Given the description of an element on the screen output the (x, y) to click on. 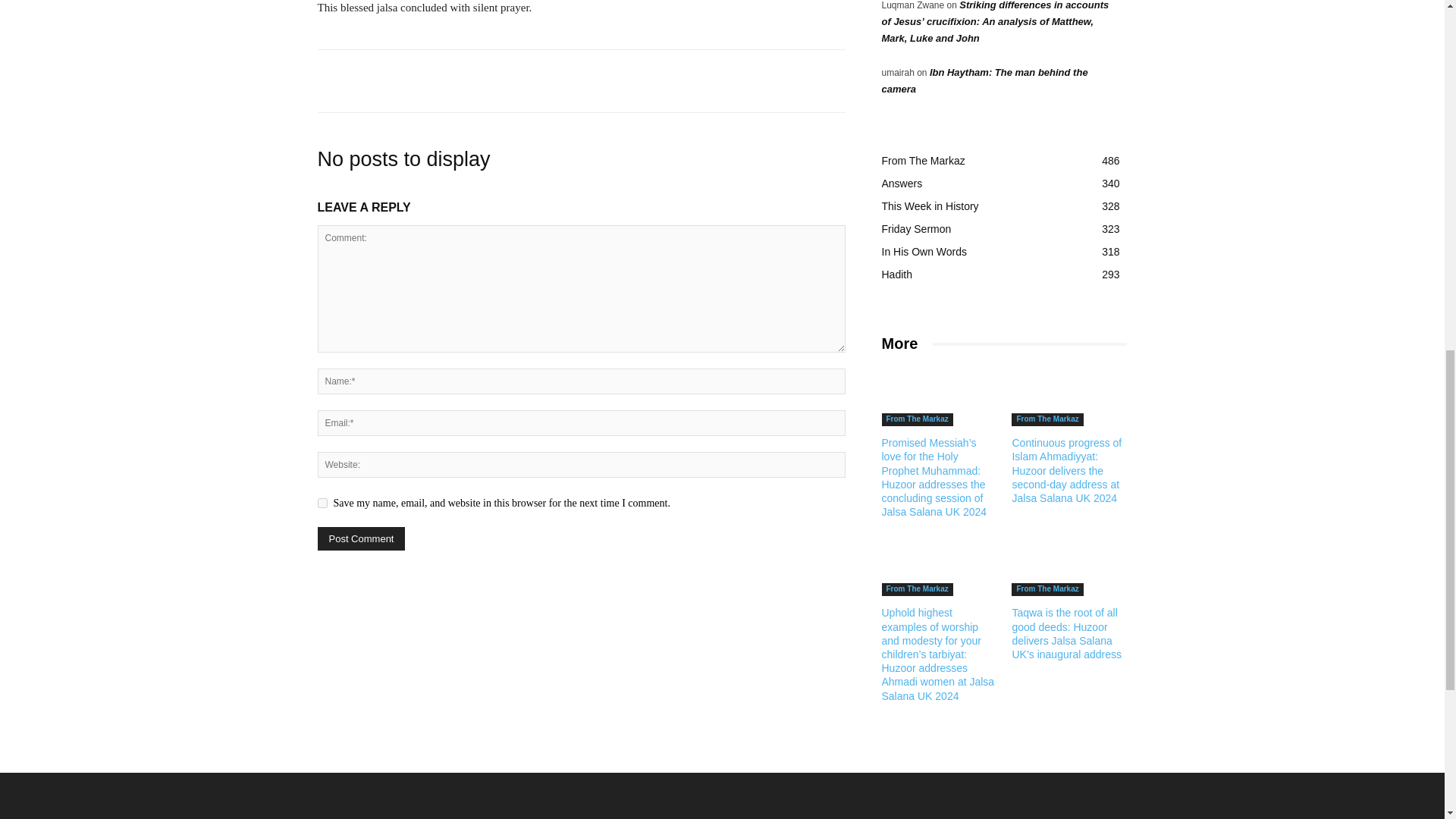
yes (321, 502)
Post Comment (360, 538)
